Given the description of an element on the screen output the (x, y) to click on. 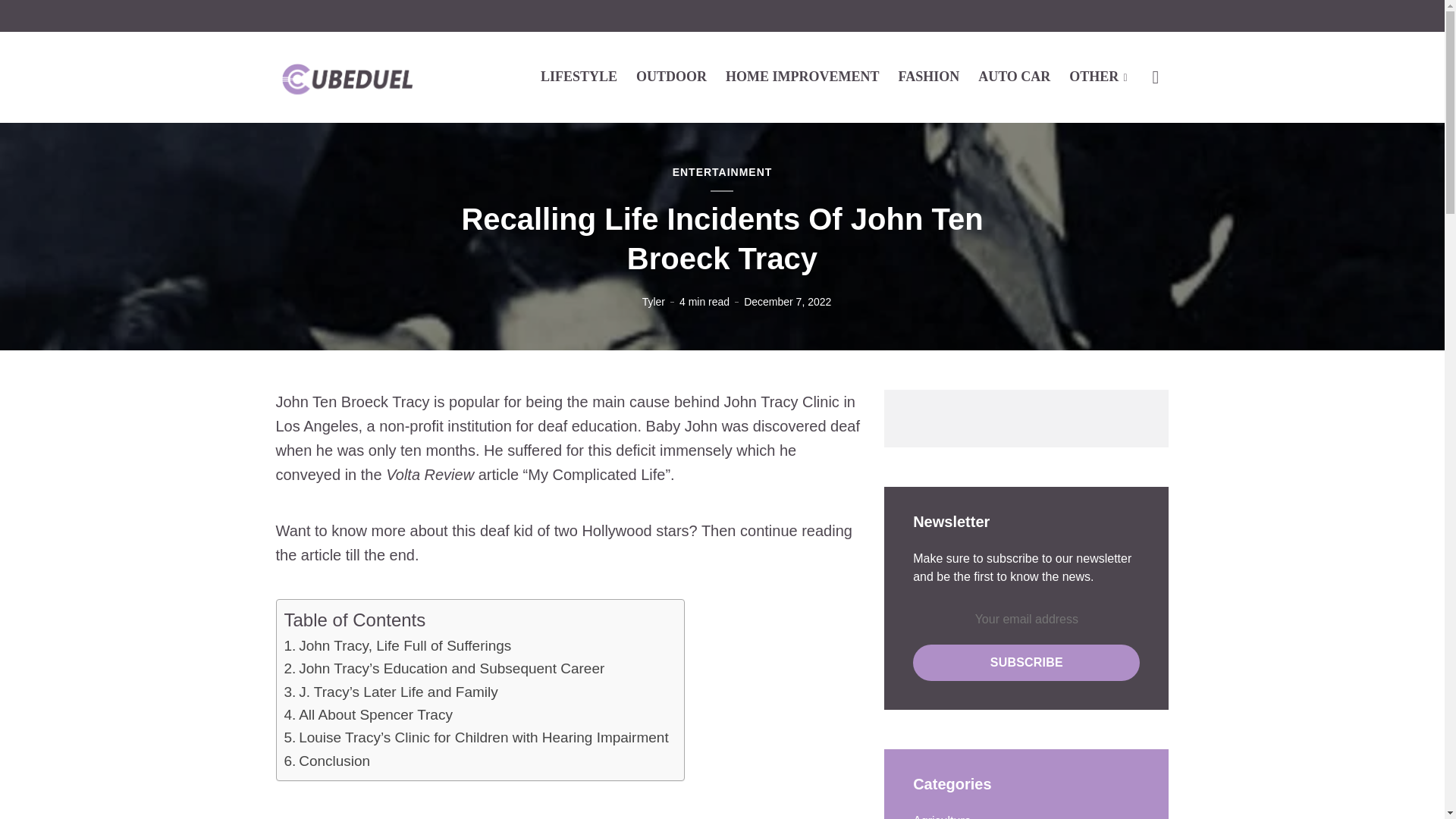
OUTDOOR (671, 76)
HOME IMPROVEMENT (802, 76)
LIFESTYLE (578, 76)
All About Spencer Tracy (375, 714)
Subscribe (1026, 662)
John Tracy, Life Full of Sufferings (404, 646)
Conclusion (333, 761)
FASHION (928, 76)
OTHER (1097, 76)
AUTO CAR (1013, 76)
